Given the description of an element on the screen output the (x, y) to click on. 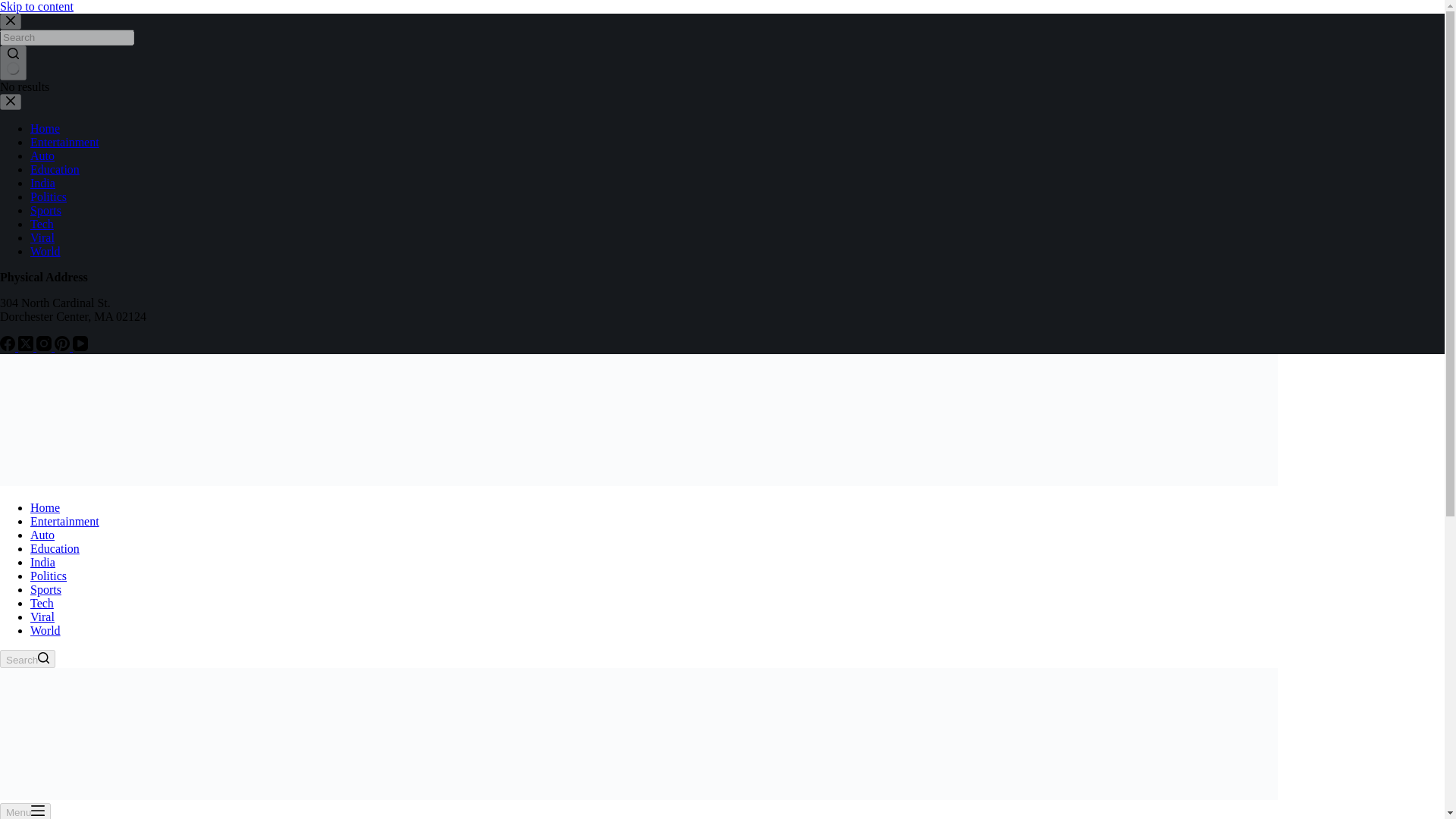
Education (55, 548)
World (45, 630)
Politics (48, 196)
Skip to content (37, 6)
Home (44, 507)
Tech (41, 223)
India (42, 182)
Auto (42, 155)
Sports (45, 210)
Politics (48, 575)
Auto (42, 534)
Entertainment (64, 521)
Viral (42, 616)
India (42, 562)
Education (55, 169)
